Given the description of an element on the screen output the (x, y) to click on. 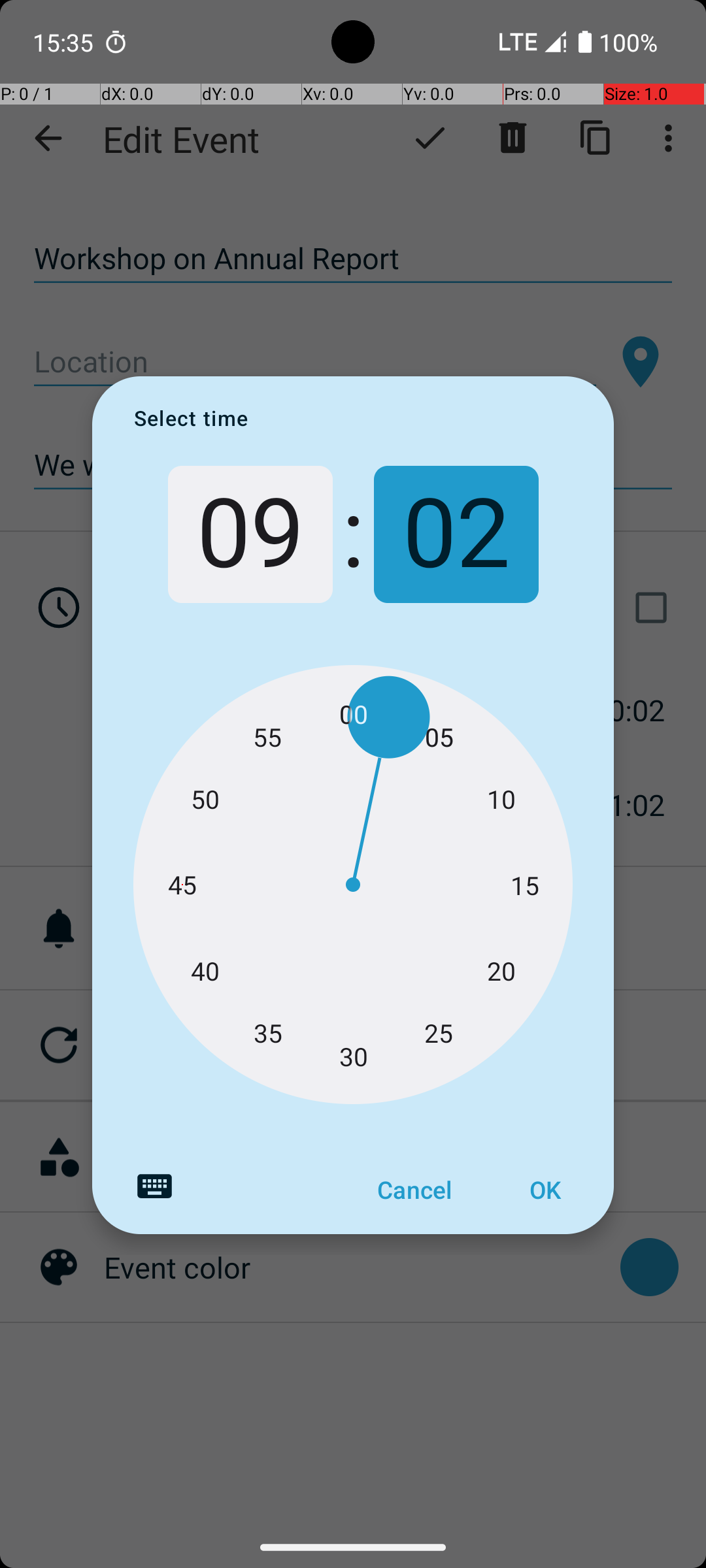
09 Element type: android.view.View (250, 534)
02 Element type: android.view.View (455, 534)
